Given the description of an element on the screen output the (x, y) to click on. 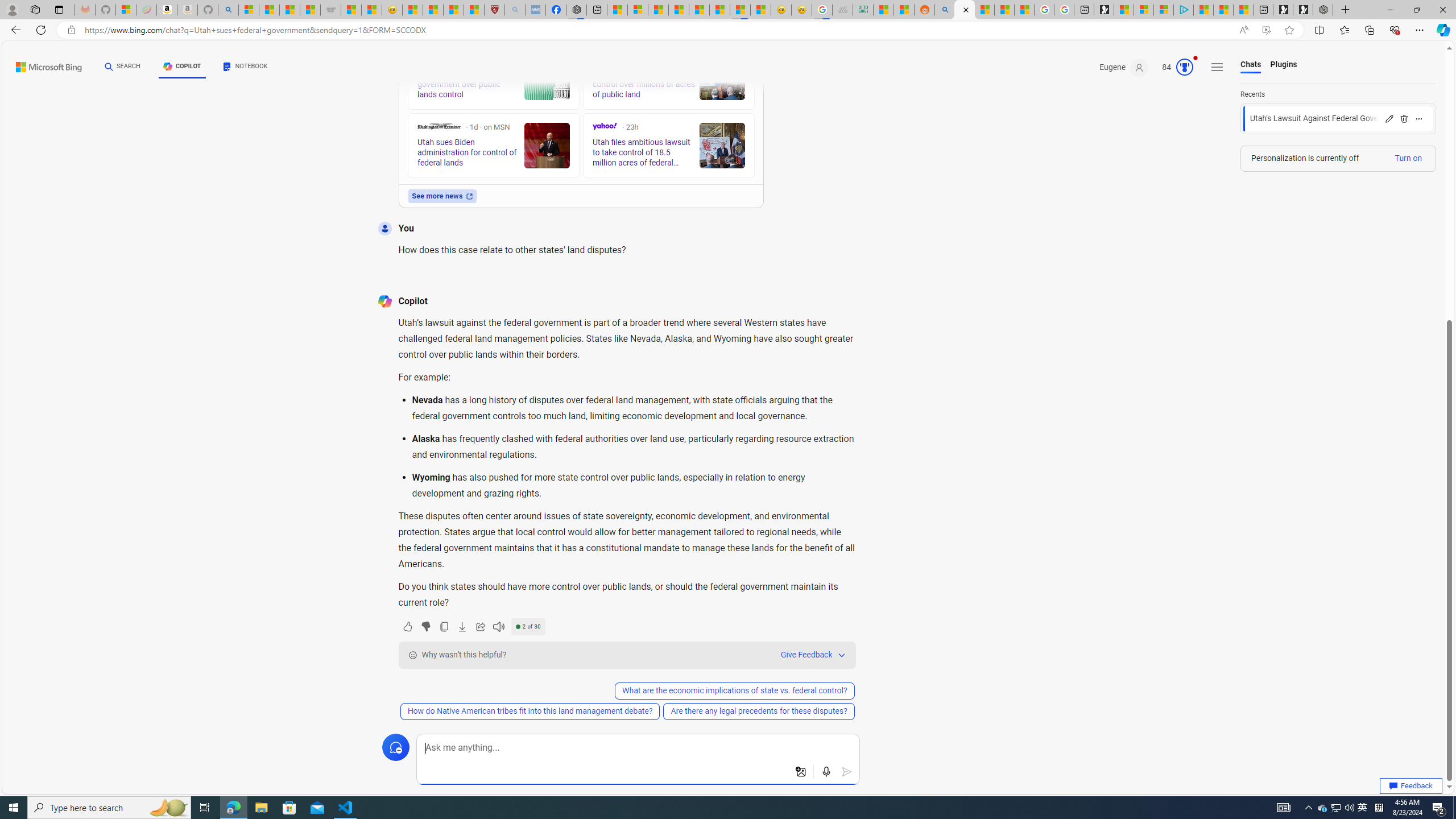
Submit (847, 771)
AutomationID: serp_medal_svg (1183, 67)
SEARCH (122, 66)
Share (479, 626)
Plugins (1283, 65)
